Given the description of an element on the screen output the (x, y) to click on. 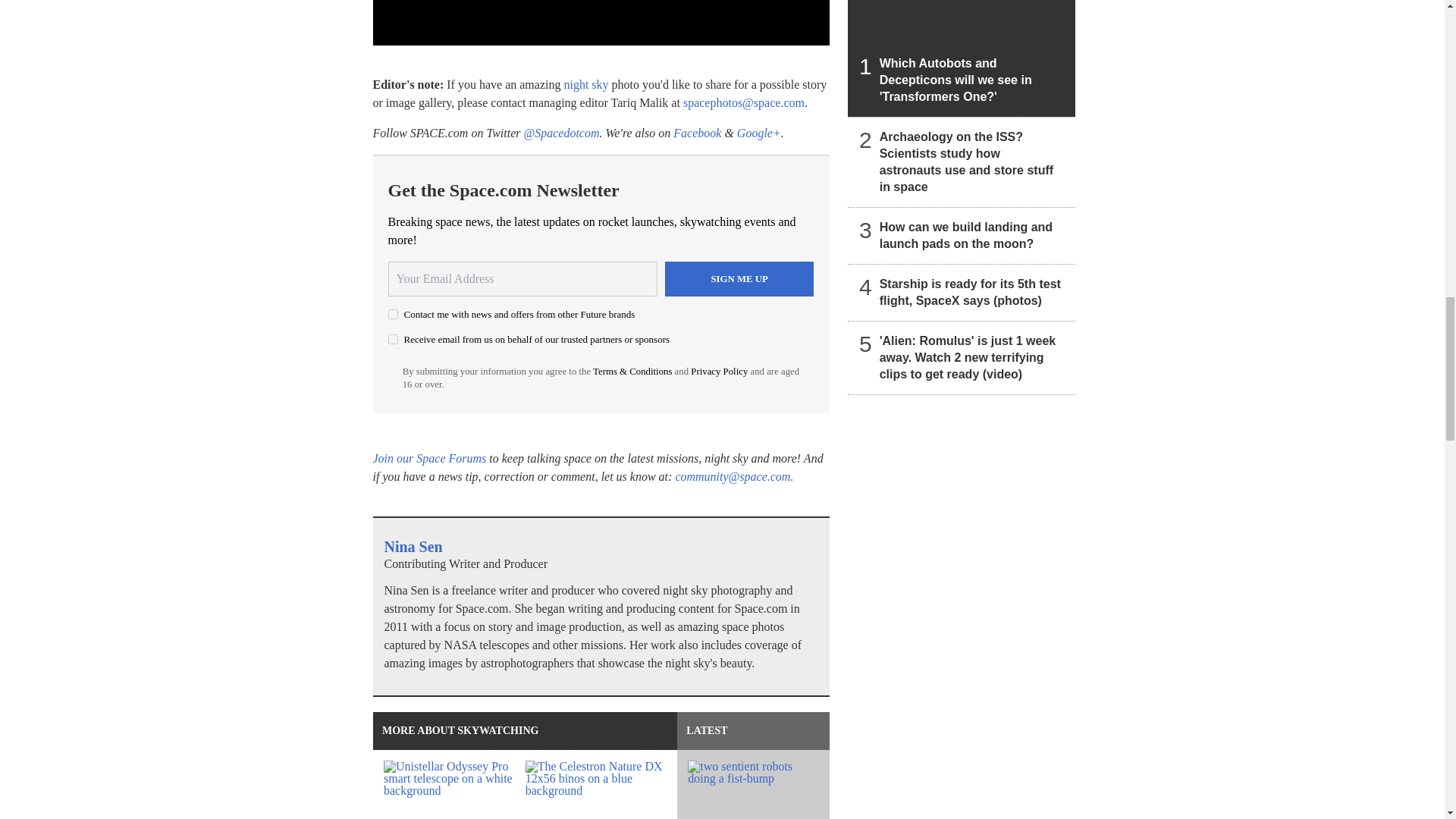
Sign me up (739, 278)
on (392, 314)
on (392, 338)
